Given the description of an element on the screen output the (x, y) to click on. 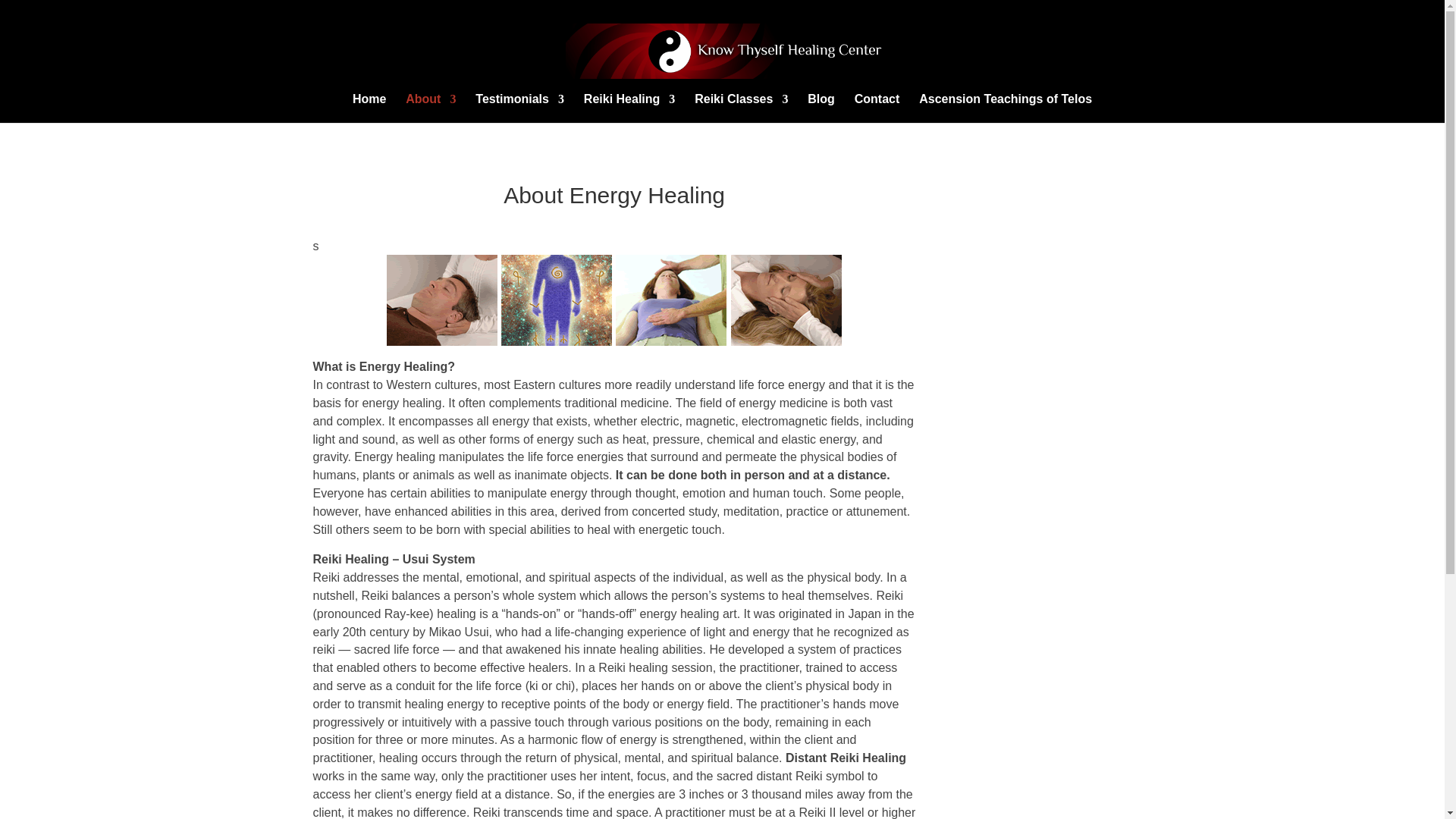
Ascension Teachings of Telos (1005, 108)
Reiki Classes (740, 108)
Home (368, 108)
Blog (821, 108)
Contact (876, 108)
Reiki Healing (629, 108)
About (430, 108)
Testimonials (520, 108)
